Given the description of an element on the screen output the (x, y) to click on. 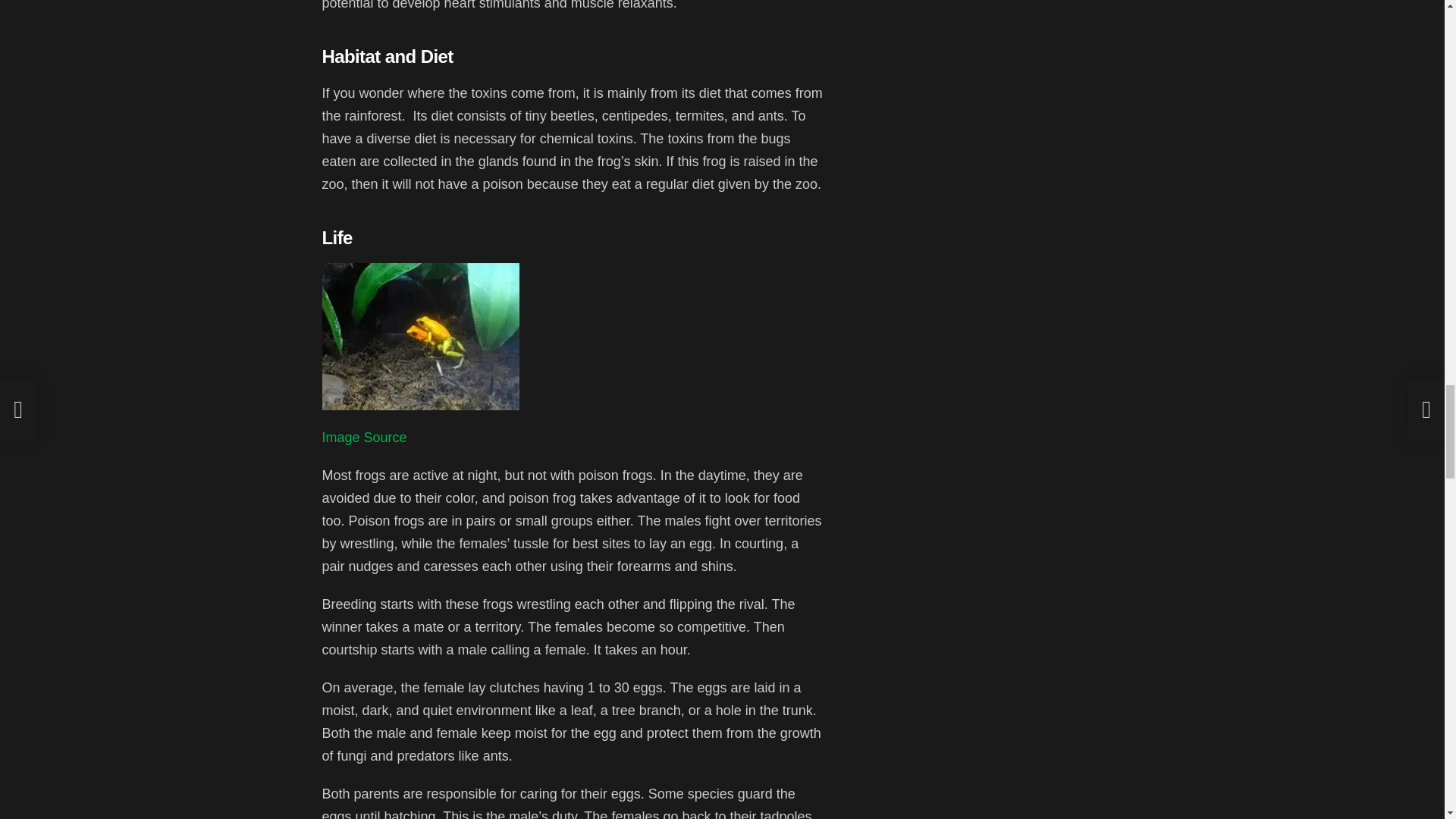
Image Source (363, 437)
